Given the description of an element on the screen output the (x, y) to click on. 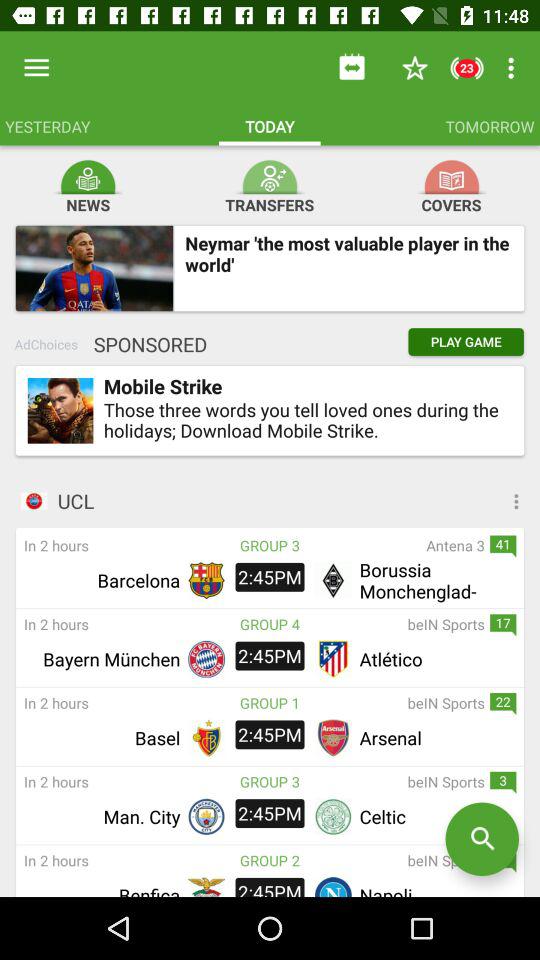
turn off item to the left of the play game icon (145, 344)
